Given the description of an element on the screen output the (x, y) to click on. 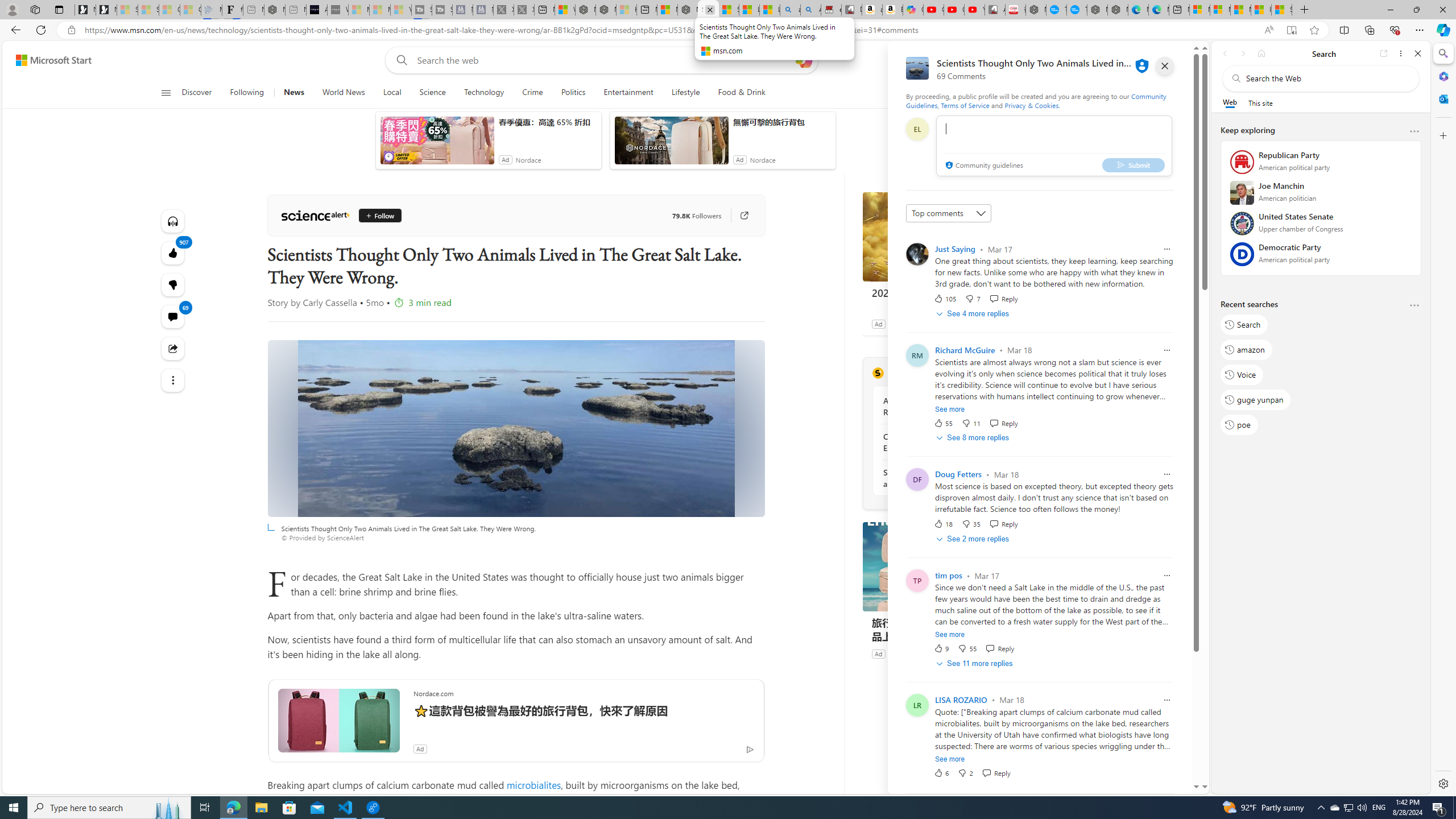
World News (343, 92)
Submit (1133, 164)
Profile Picture (916, 254)
Crime (531, 92)
Dislike (964, 772)
All Cubot phones (994, 9)
Enter your search term (603, 59)
Just Saying (954, 248)
Visit ScienceAlert website (1018, 372)
Food & Drink (741, 92)
Personalize (1006, 92)
LISA ROZARIO (960, 699)
Republican Party American political party (1321, 164)
